Given the description of an element on the screen output the (x, y) to click on. 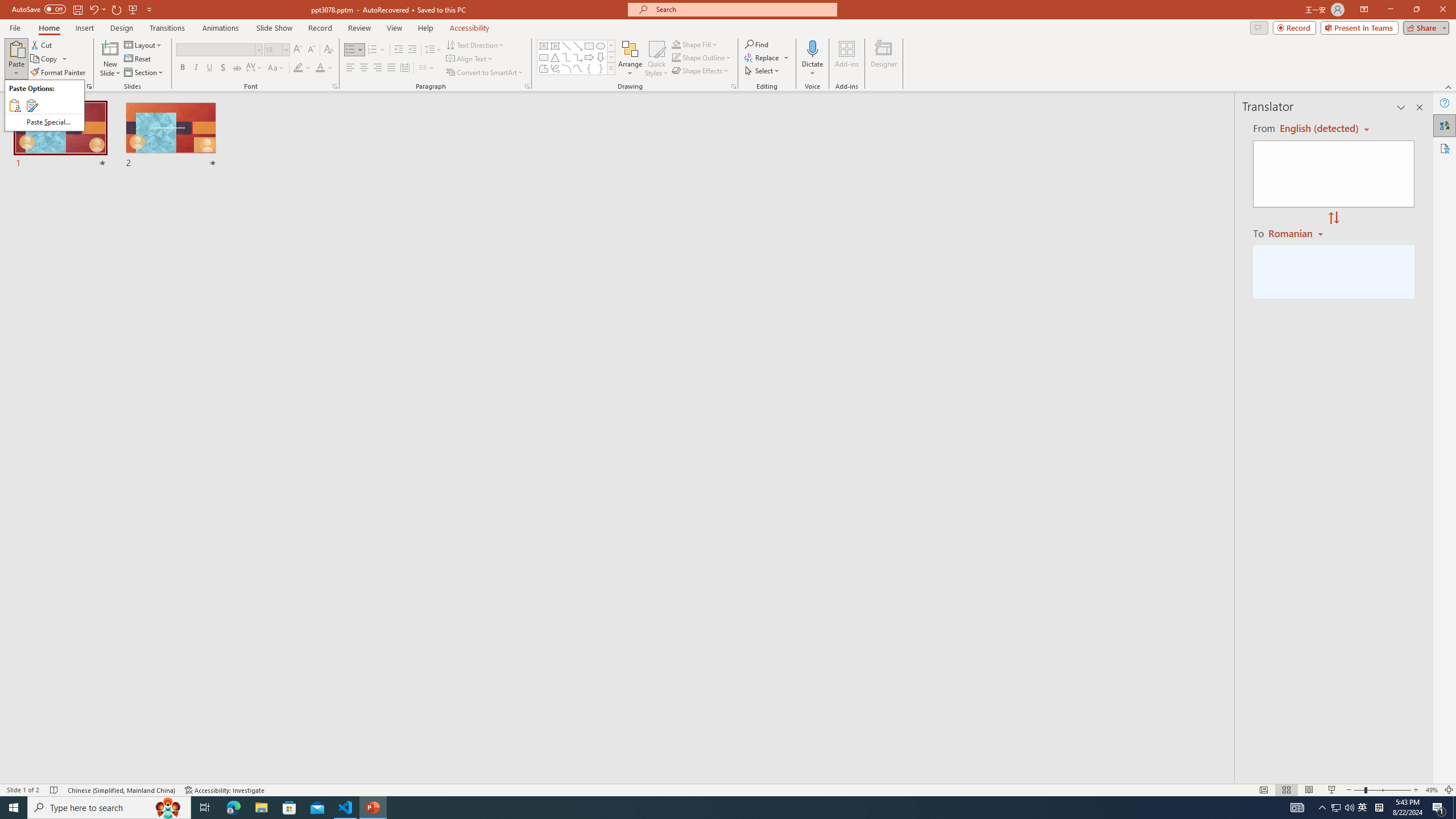
Strikethrough (237, 67)
Layout (143, 44)
Center (363, 67)
